Given the description of an element on the screen output the (x, y) to click on. 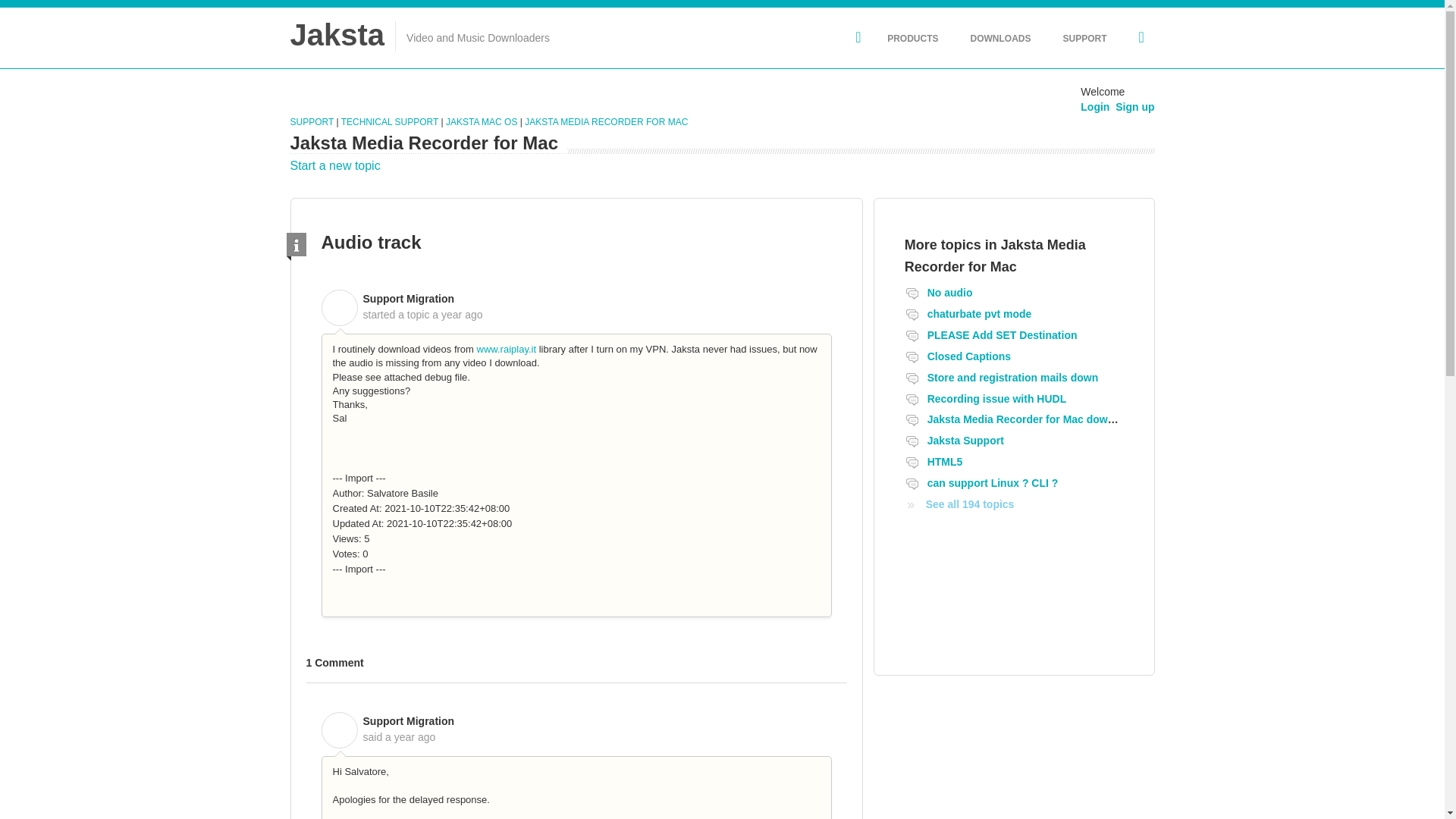
No audio (949, 292)
Store and registration mails down (1013, 377)
DOWNLOADS (999, 37)
JAKSTA MEDIA RECORDER FOR MAC (605, 122)
Jaksta (336, 34)
Mon, 8 May, 2023 at  2:48 AM (456, 314)
Start a new topic (334, 164)
Mon, 8 May, 2023 at  2:48 AM (410, 736)
HTML5 (944, 461)
Closed Captions (968, 356)
SUPPORT (312, 122)
JAKSTA MAC OS (480, 122)
Start a new topic (334, 164)
Jaksta Support (965, 440)
